Given the description of an element on the screen output the (x, y) to click on. 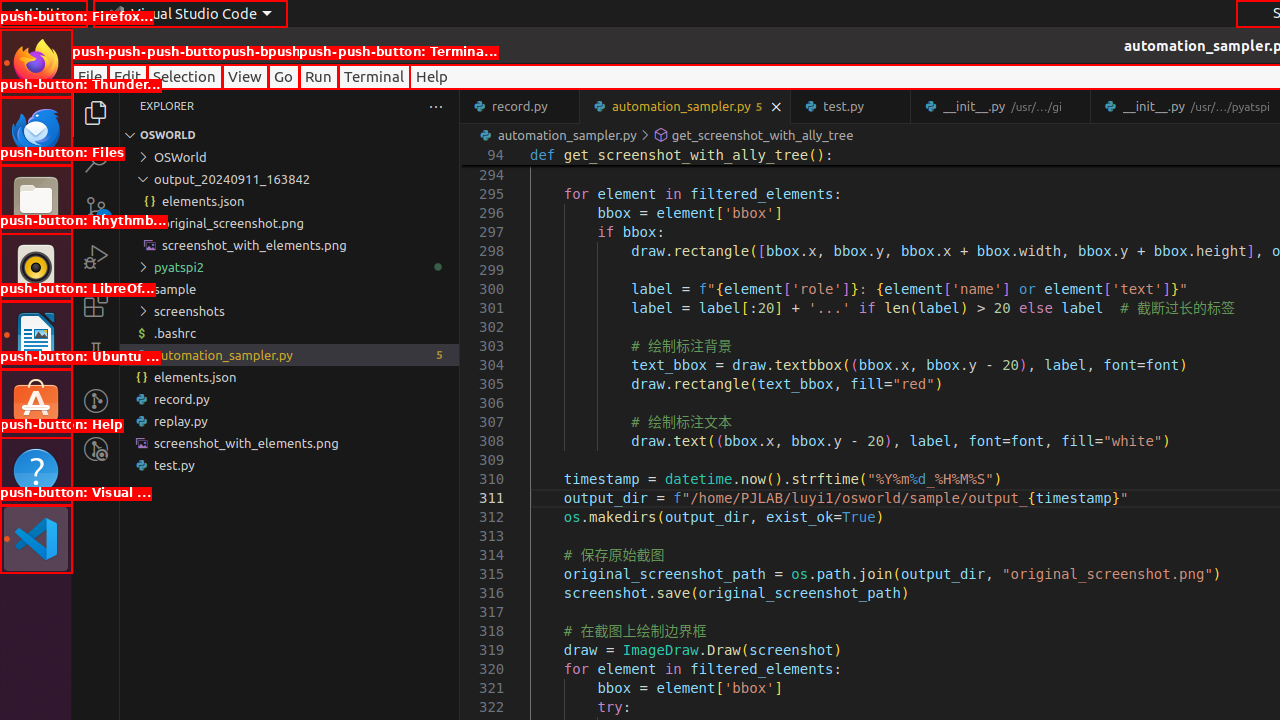
Firefox Web Browser Element type: push-button (36, 63)
Run Element type: push-button (318, 76)
